Given the description of an element on the screen output the (x, y) to click on. 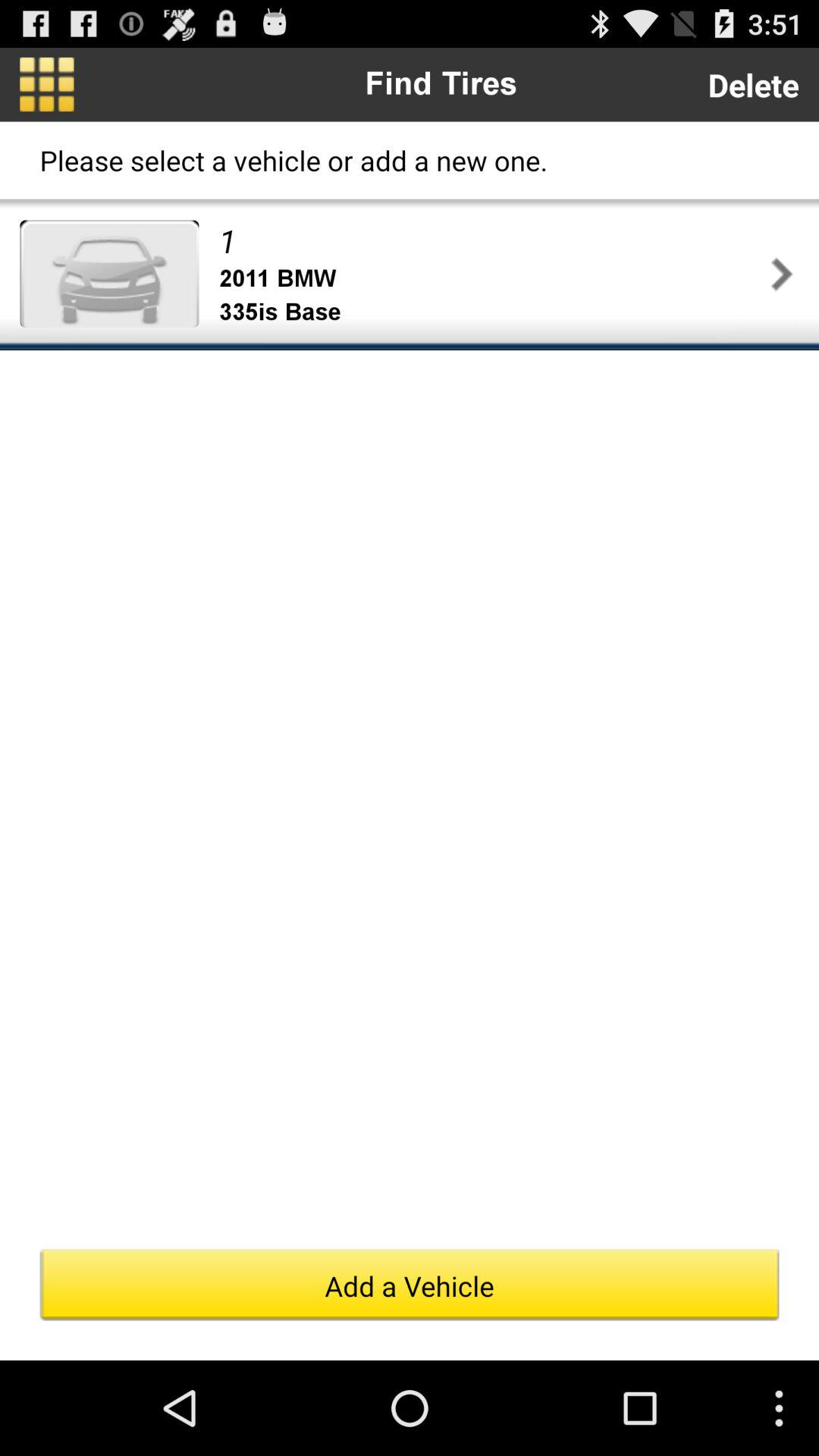
open menu (46, 84)
